Given the description of an element on the screen output the (x, y) to click on. 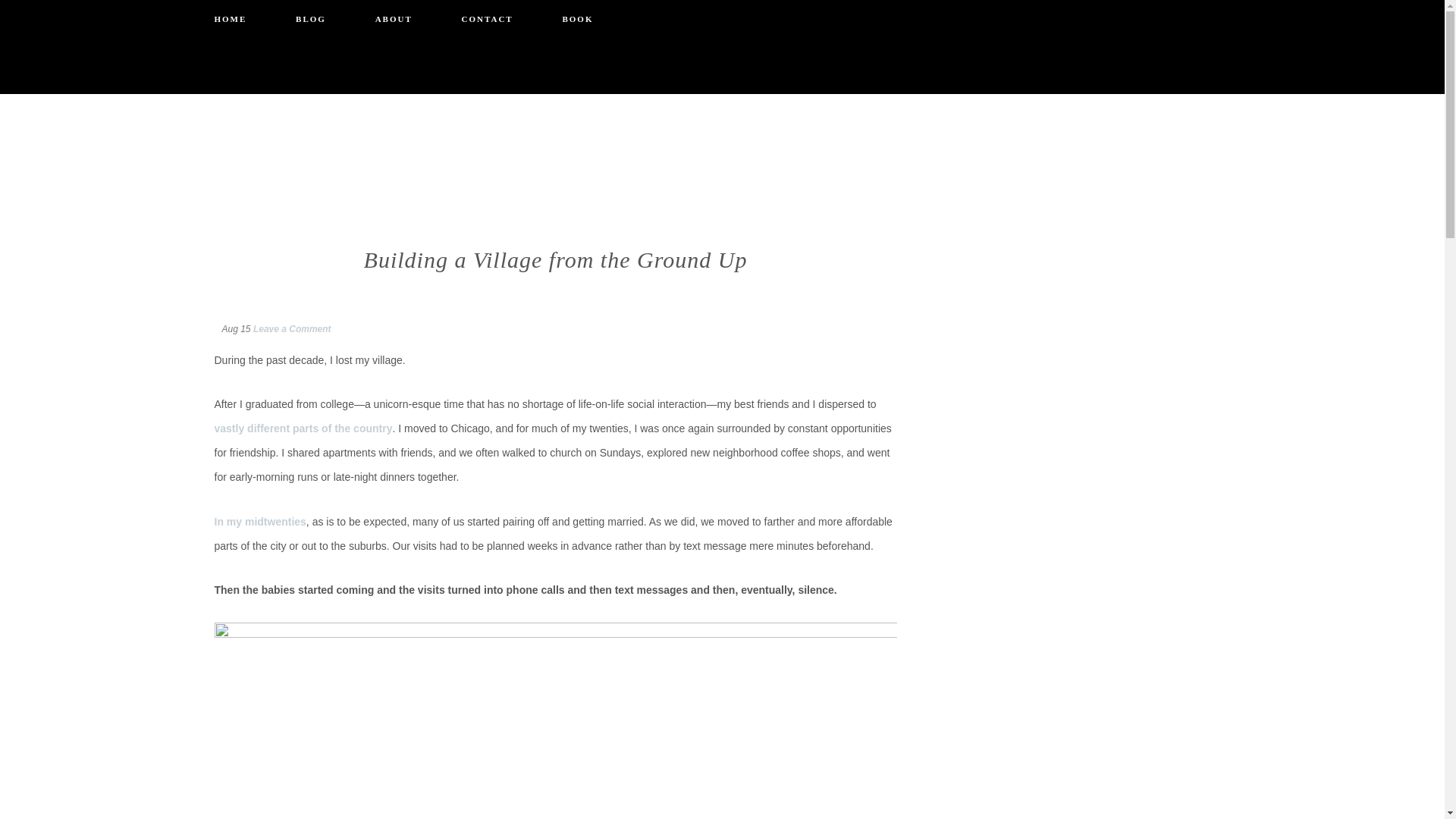
ABOUT (393, 19)
BLOG (311, 19)
In my midtwenties (259, 521)
BOOK (576, 19)
HOME (229, 19)
BRITTANY L. BERGMAN (722, 117)
CONTACT (487, 19)
Leave a Comment (292, 328)
vastly different parts of the country (302, 428)
